Given the description of an element on the screen output the (x, y) to click on. 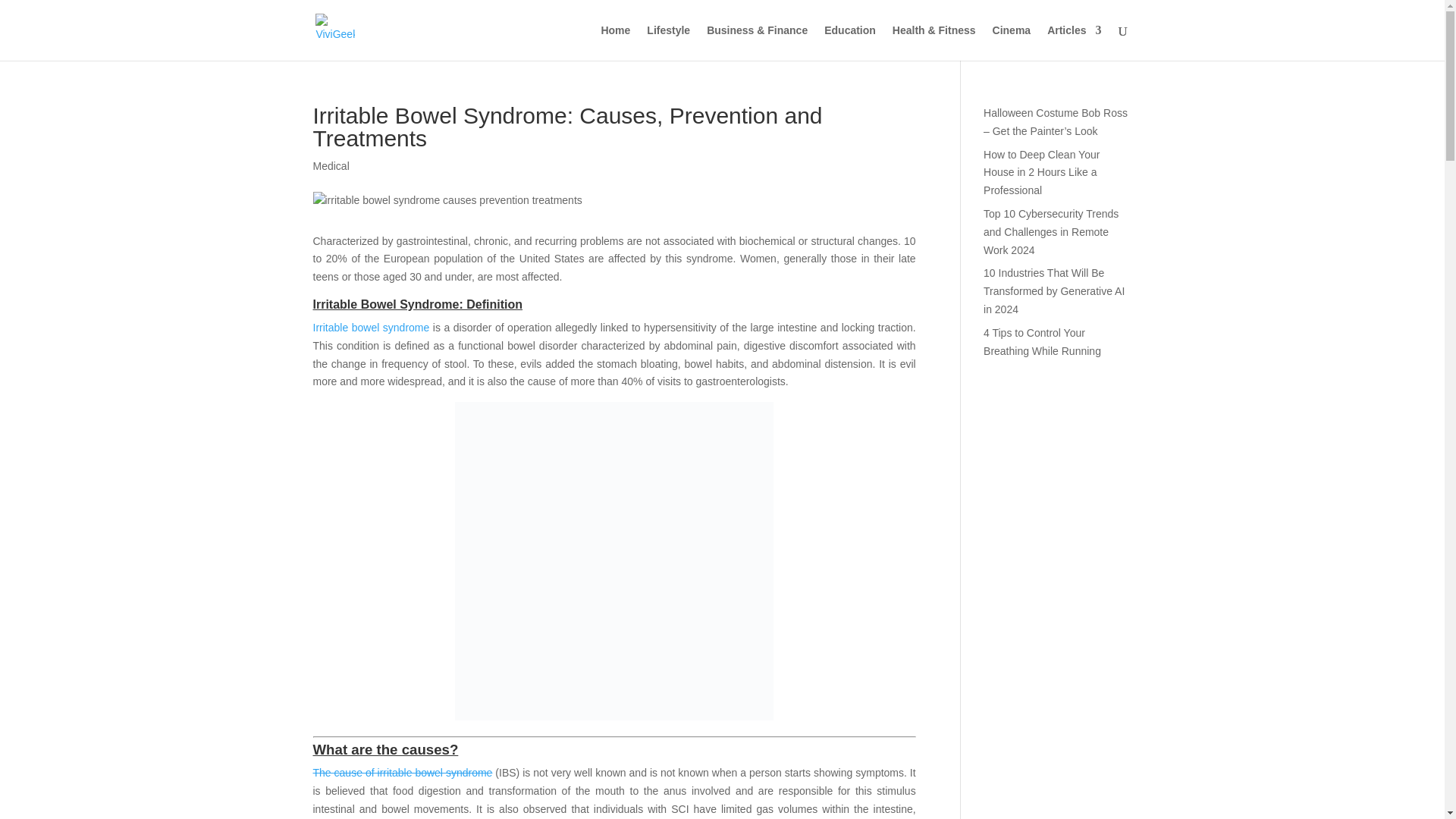
Articles (1073, 42)
Education (850, 42)
4 Tips to Control Your Breathing While Running (1042, 341)
Cinema (1011, 42)
Medical (331, 165)
Irritable bowel syndrome (371, 327)
Lifestyle (668, 42)
The cause of irritable bowel syndrome (402, 772)
Home (614, 42)
How to Deep Clean Your House in 2 Hours Like a Professional (1041, 172)
